Given the description of an element on the screen output the (x, y) to click on. 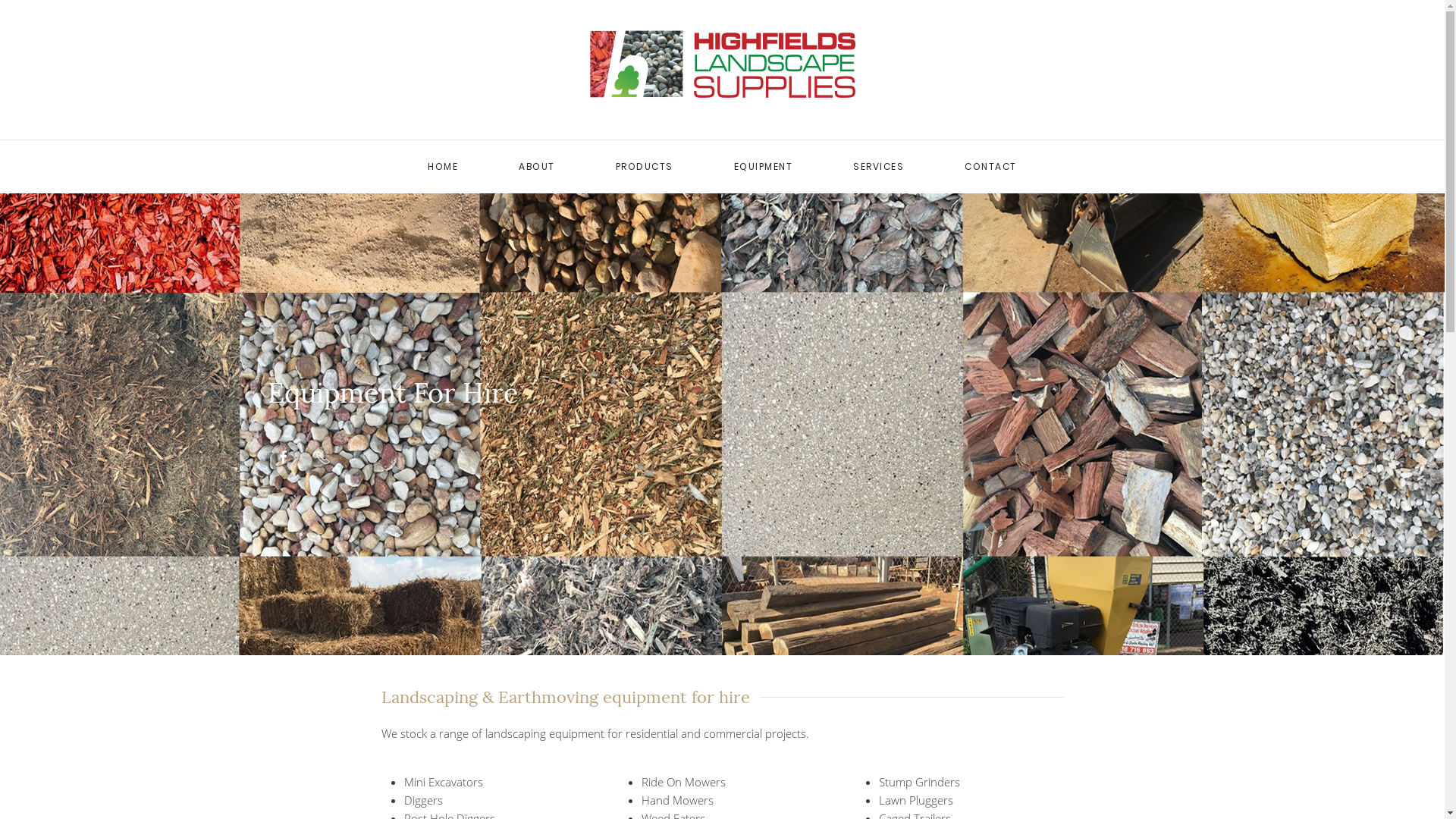
SERVICES Element type: text (878, 166)
CONTACT Element type: text (990, 166)
ABOUT Element type: text (536, 166)
EQUIPMENT Element type: text (763, 166)
PRODUCTS Element type: text (644, 166)
HOME Element type: text (442, 166)
